Given the description of an element on the screen output the (x, y) to click on. 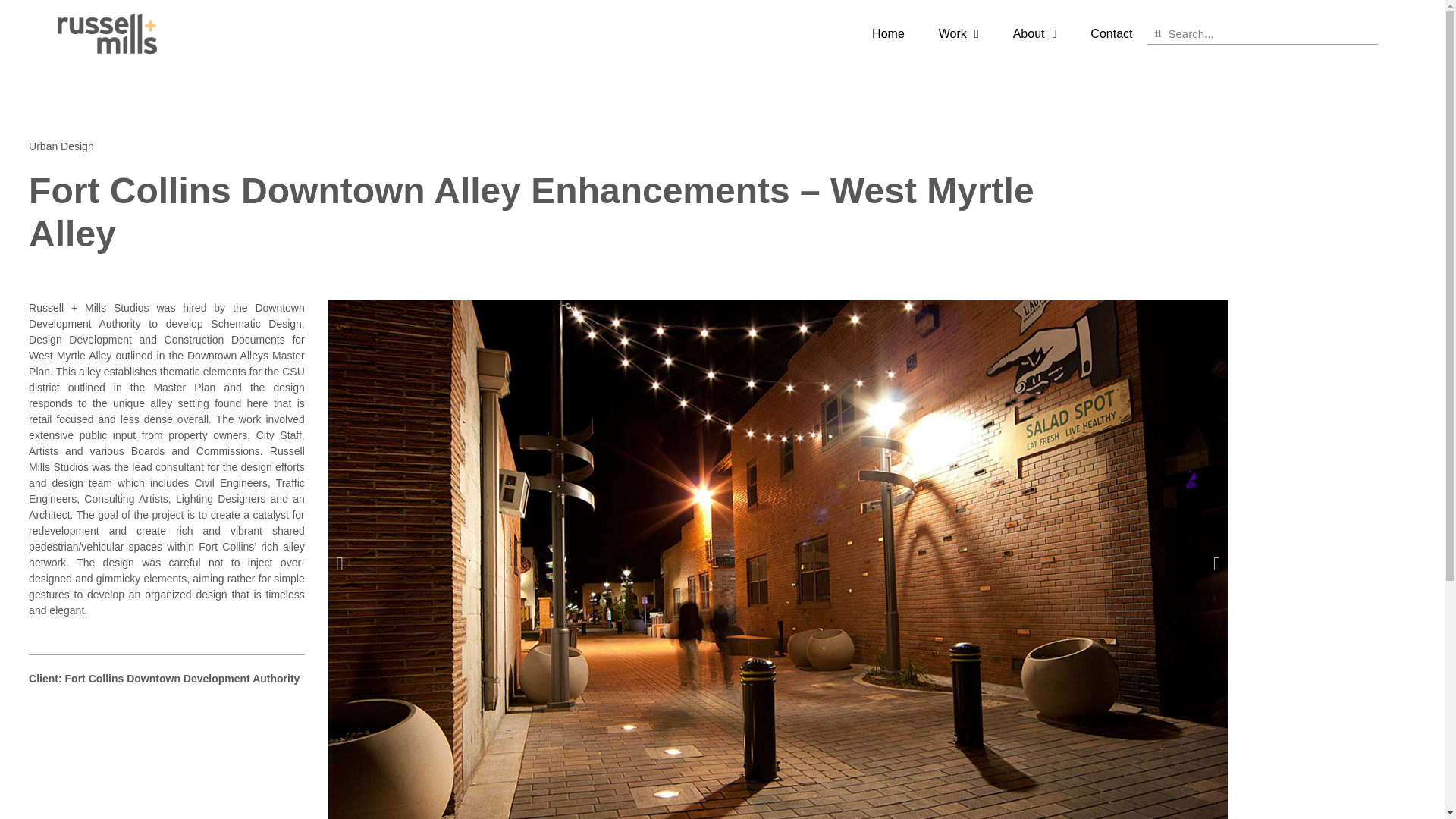
Home (888, 33)
Contact (1111, 33)
About (1034, 33)
Work (958, 33)
